Given the description of an element on the screen output the (x, y) to click on. 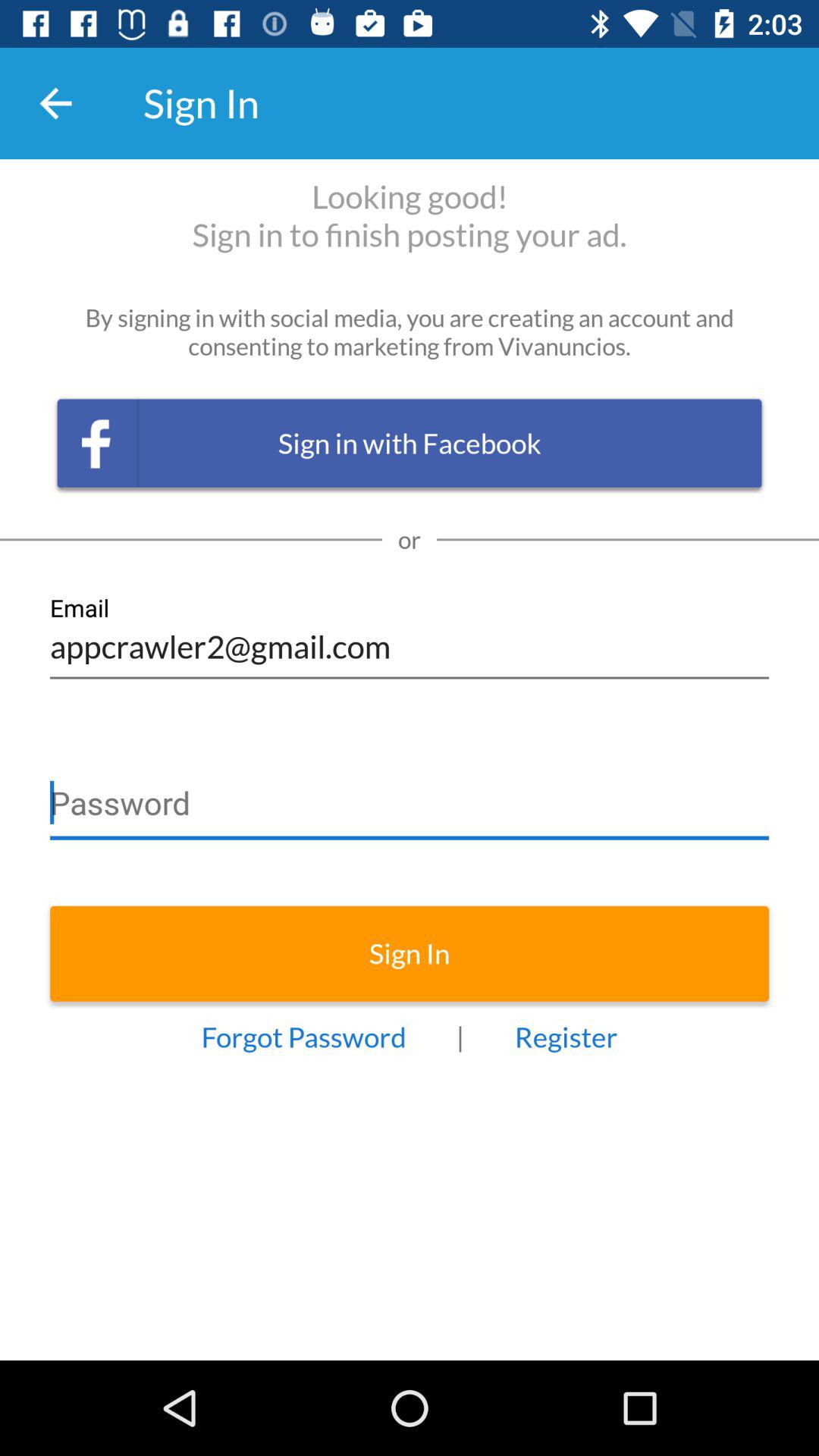
tap forgot password icon (303, 1036)
